Given the description of an element on the screen output the (x, y) to click on. 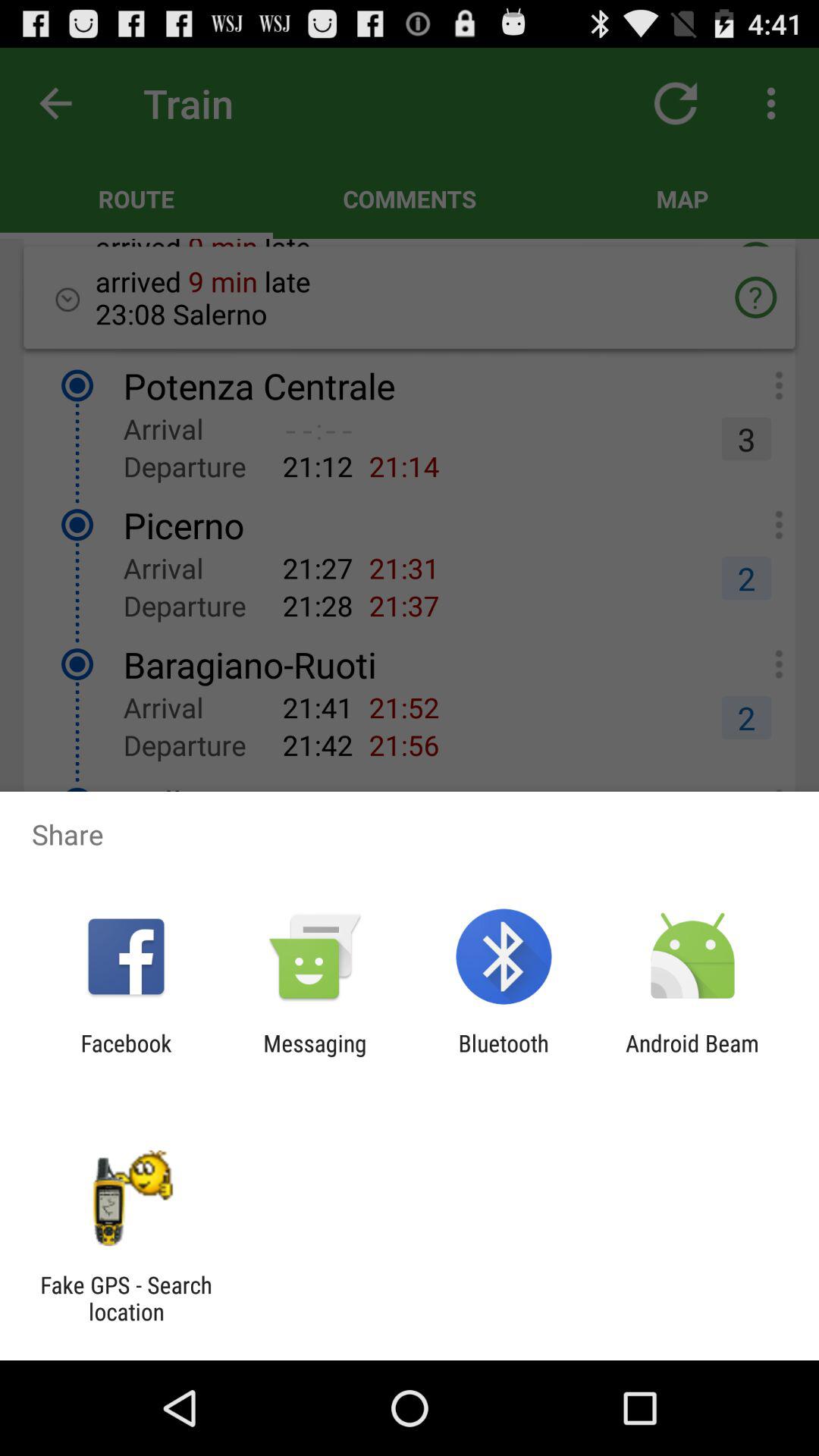
turn off the item next to facebook (314, 1056)
